Given the description of an element on the screen output the (x, y) to click on. 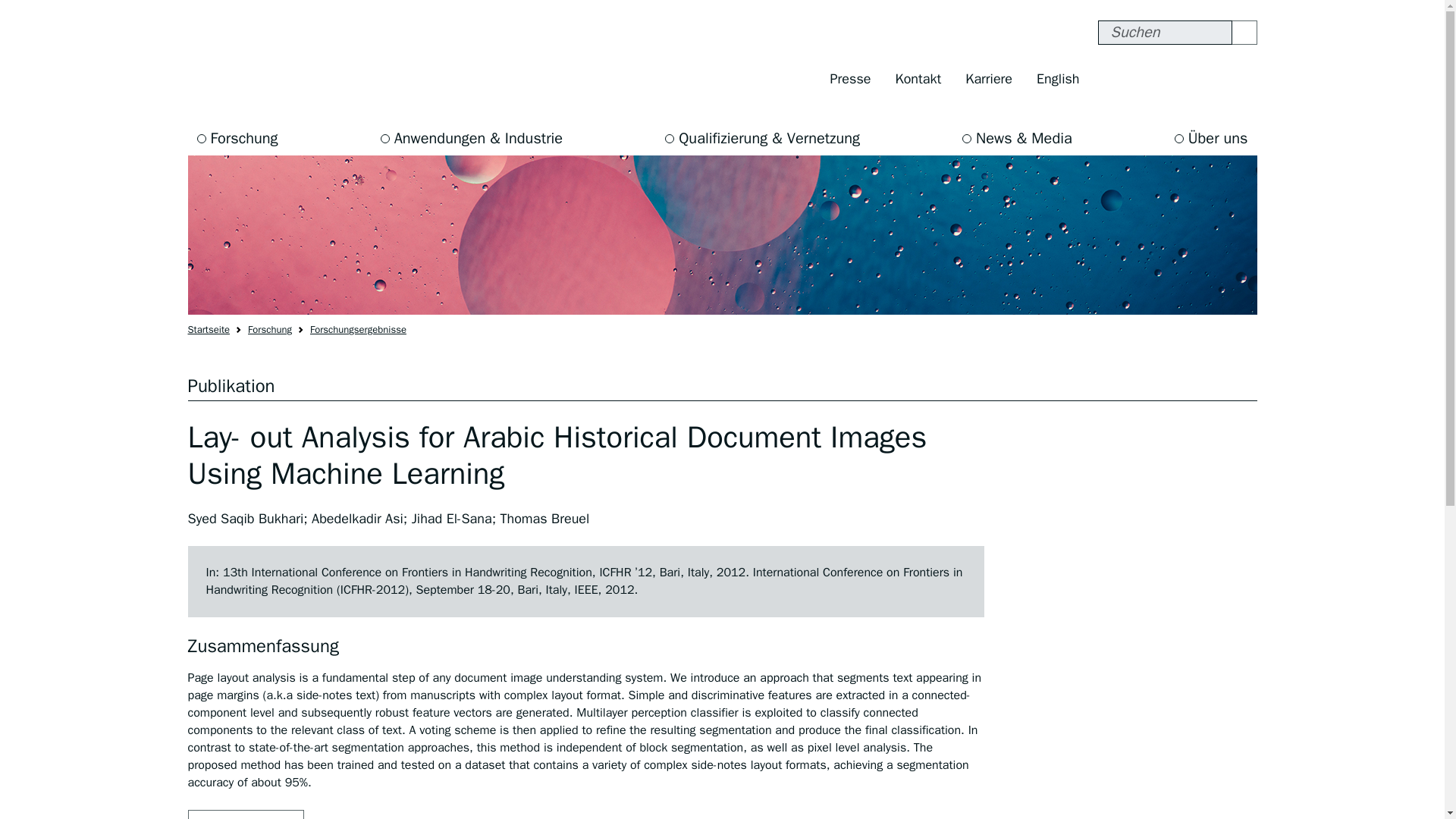
Folgen Sie uns auf: Facebook (1113, 79)
Presse (850, 79)
Karriere (989, 79)
English (1057, 79)
Translate to English (1057, 79)
Forschung (236, 138)
Folgen Sie uns auf: Instagram (1145, 79)
Folgen Sie uns auf: Youtube (1209, 79)
Folgen Sie uns auf: X (1177, 79)
Folgen Sie uns auf: LinkedIn (1240, 79)
